Given the description of an element on the screen output the (x, y) to click on. 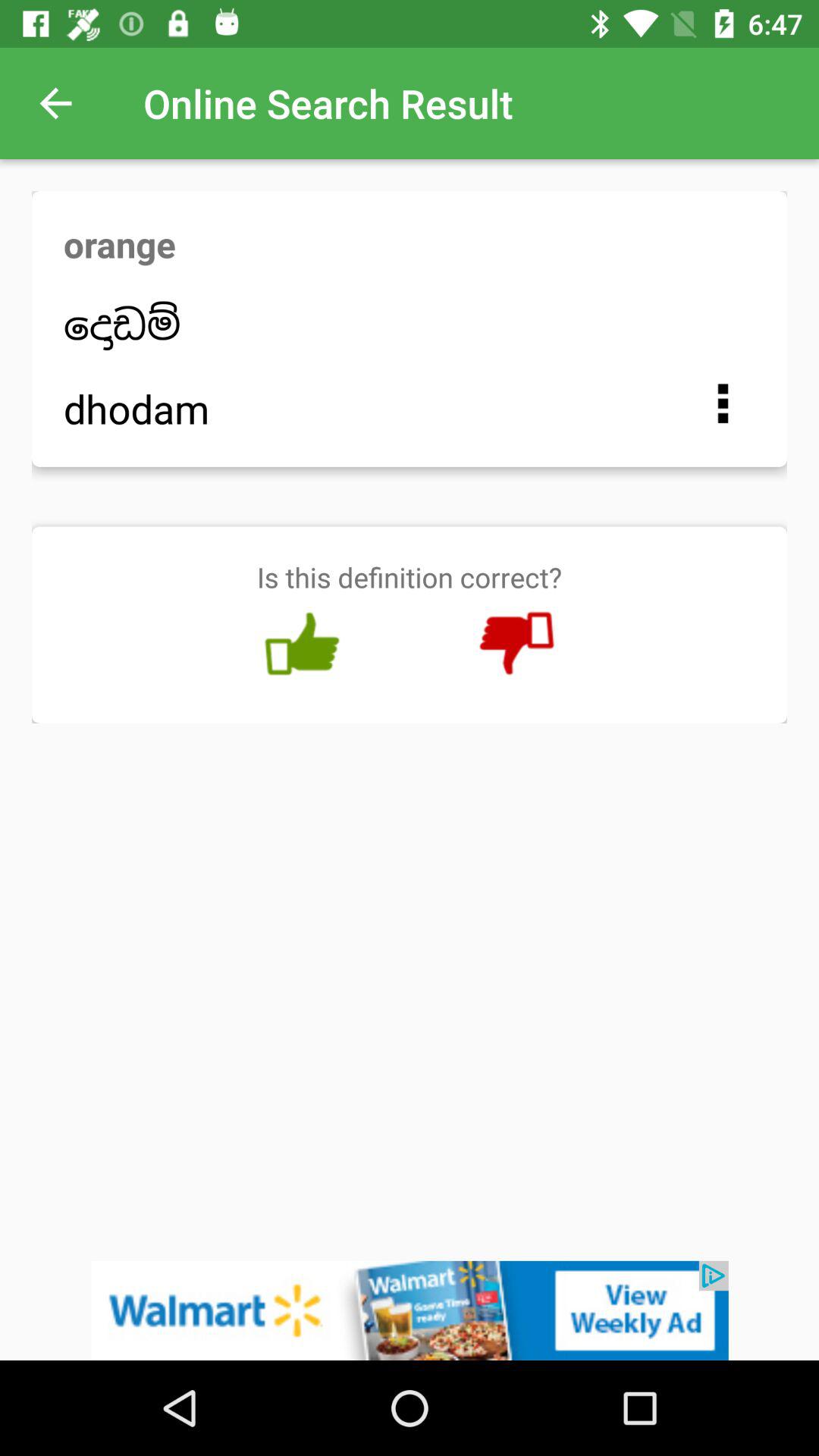
dispute definition (516, 643)
